Given the description of an element on the screen output the (x, y) to click on. 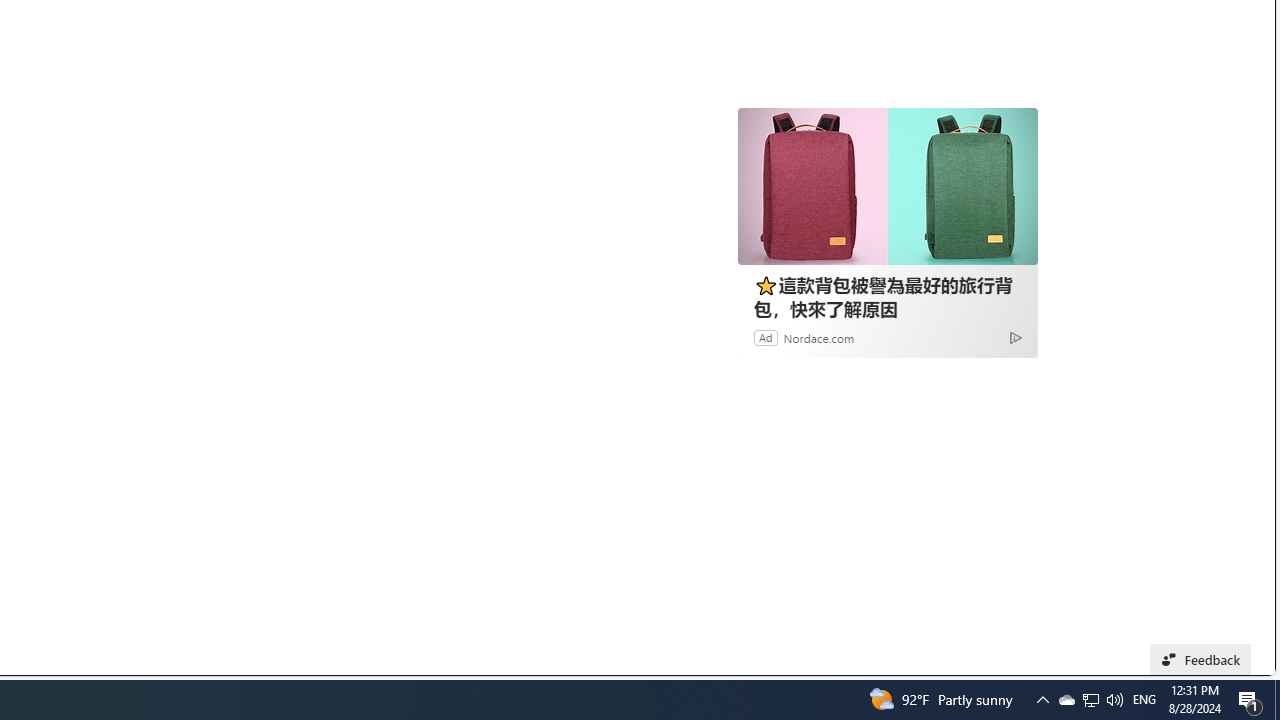
Nordace.com (819, 337)
Ad (766, 337)
Feedback (1199, 659)
Ad Choice (1015, 336)
